Given the description of an element on the screen output the (x, y) to click on. 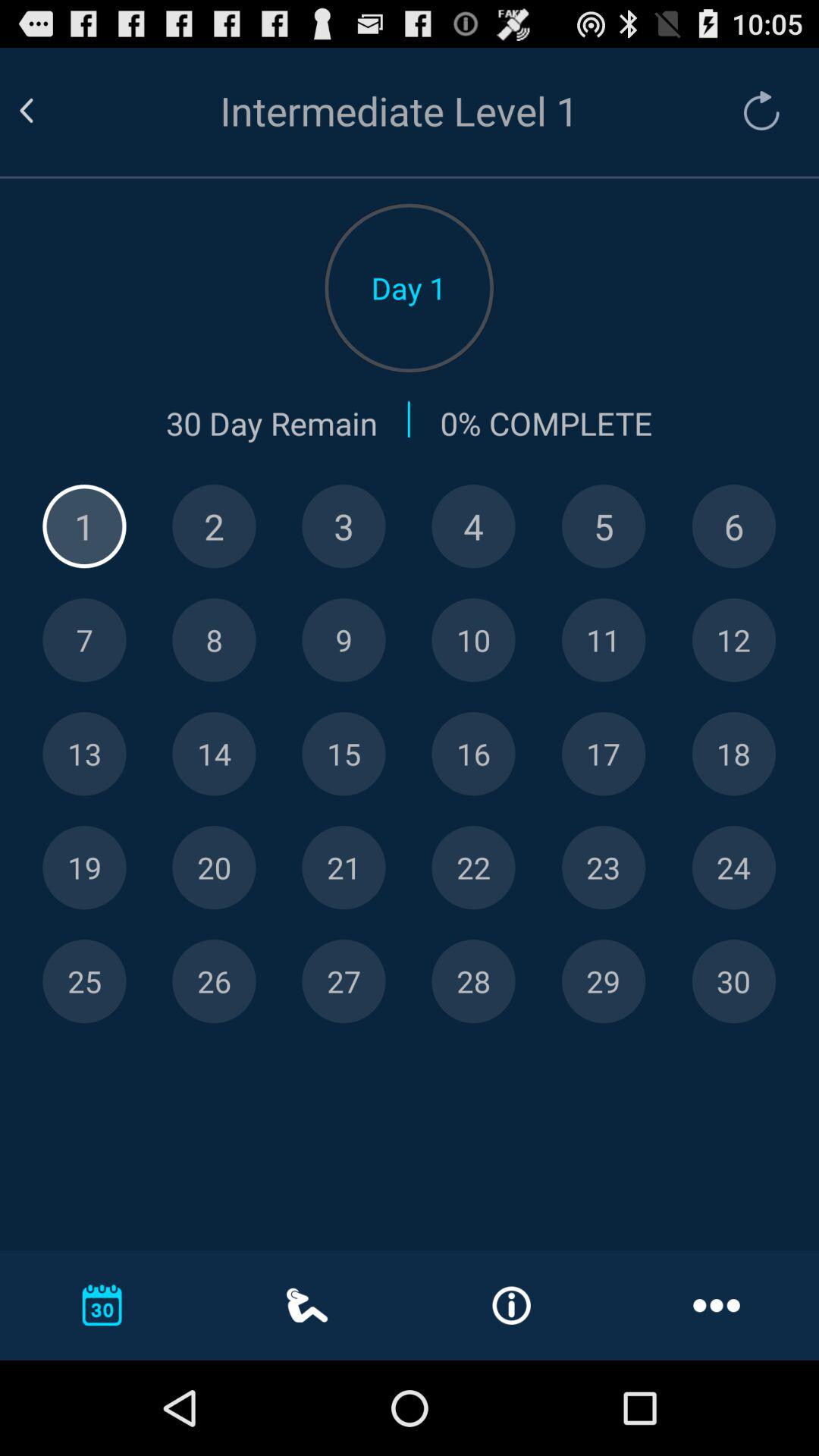
choose day 30 (733, 981)
